Given the description of an element on the screen output the (x, y) to click on. 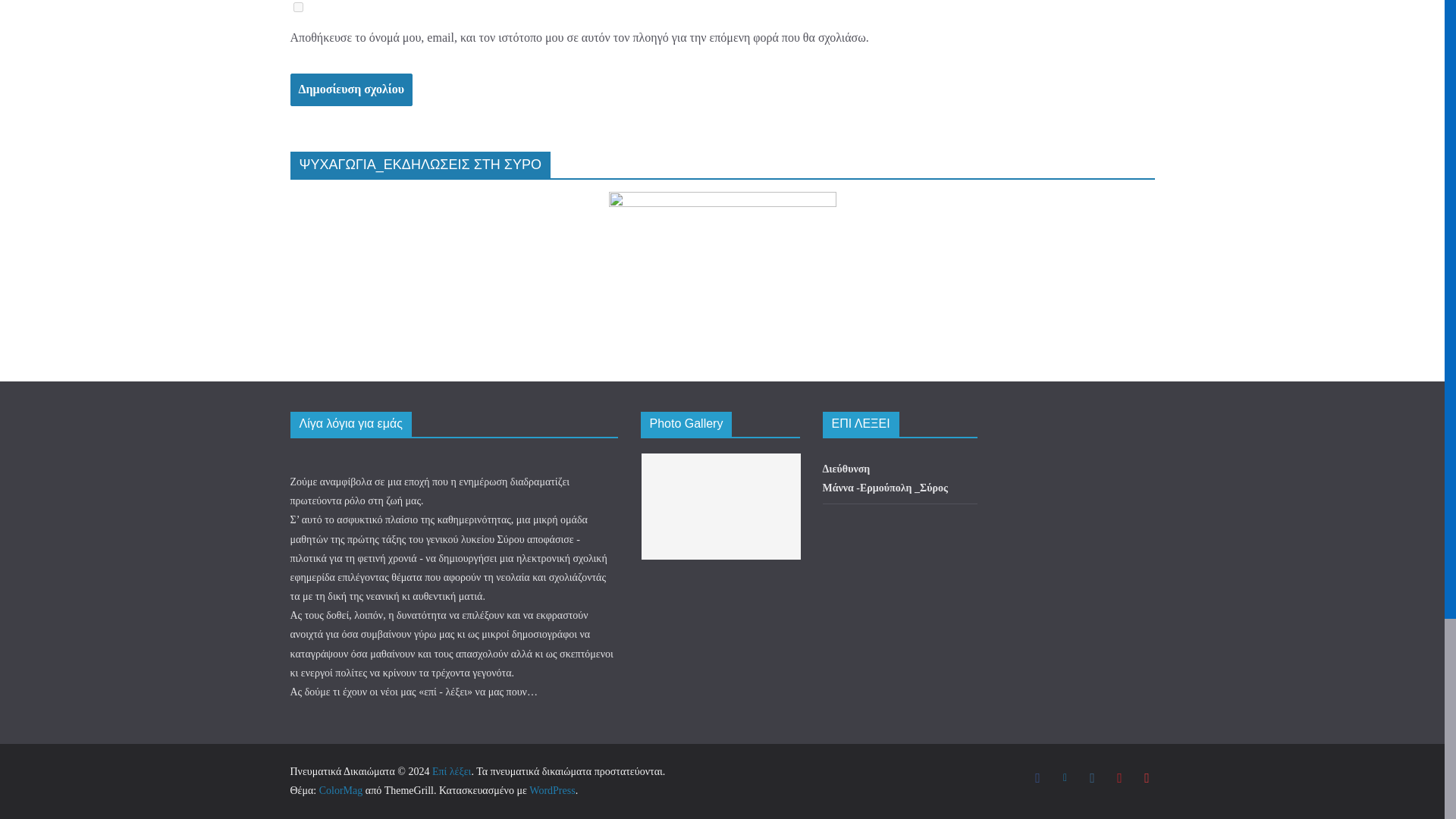
yes (297, 7)
